Given the description of an element on the screen output the (x, y) to click on. 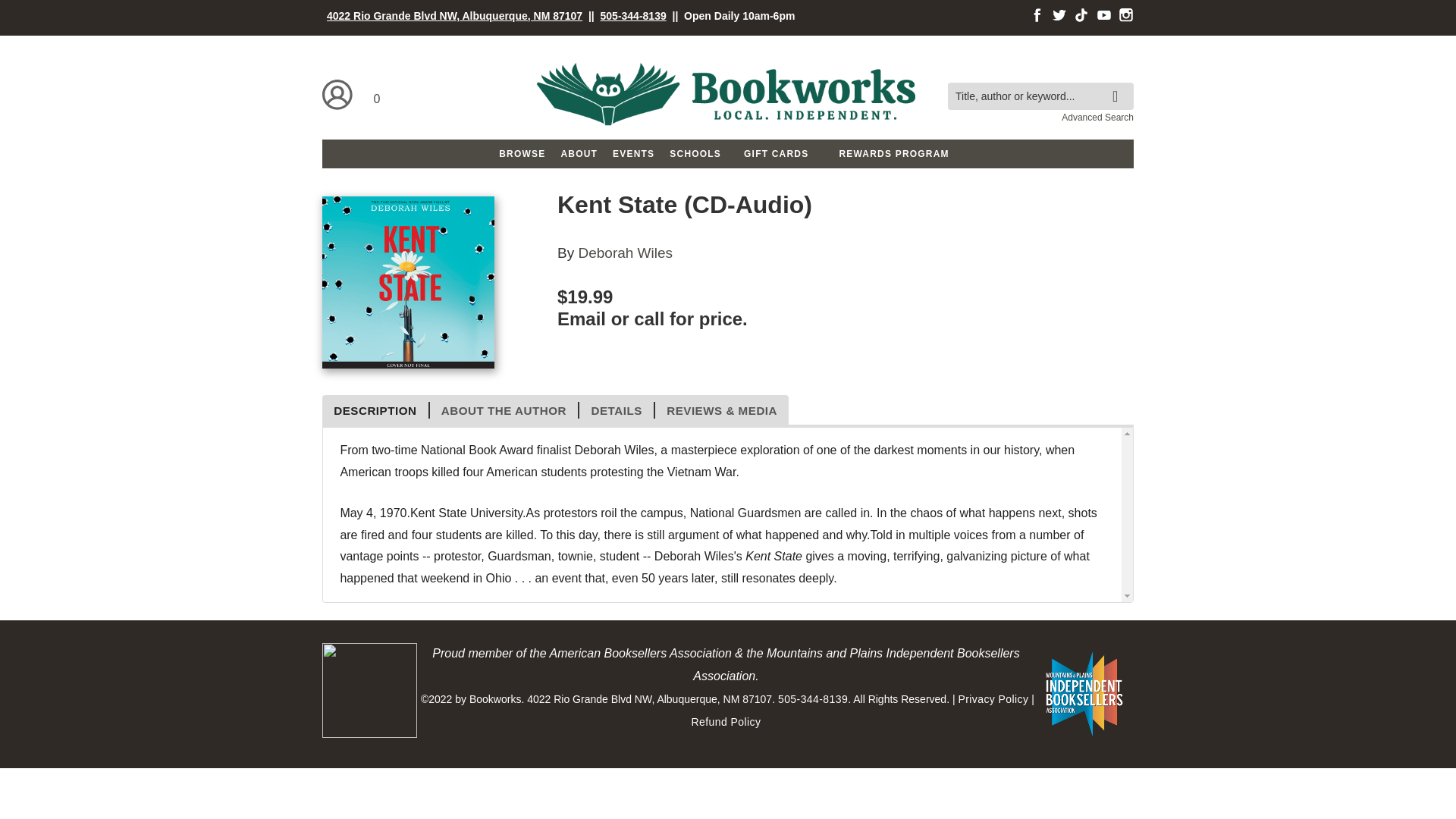
Advanced Search (1097, 117)
BROWSE (522, 153)
search (1118, 84)
Landing page for all things related to Bookworks Events (633, 153)
Title, author or keyword... (1040, 96)
505-344-8139 (632, 15)
ABOUT (579, 153)
search (1118, 84)
4022 Rio Grande Blvd NW, Albuquerque, NM 87107 (454, 15)
